Given the description of an element on the screen output the (x, y) to click on. 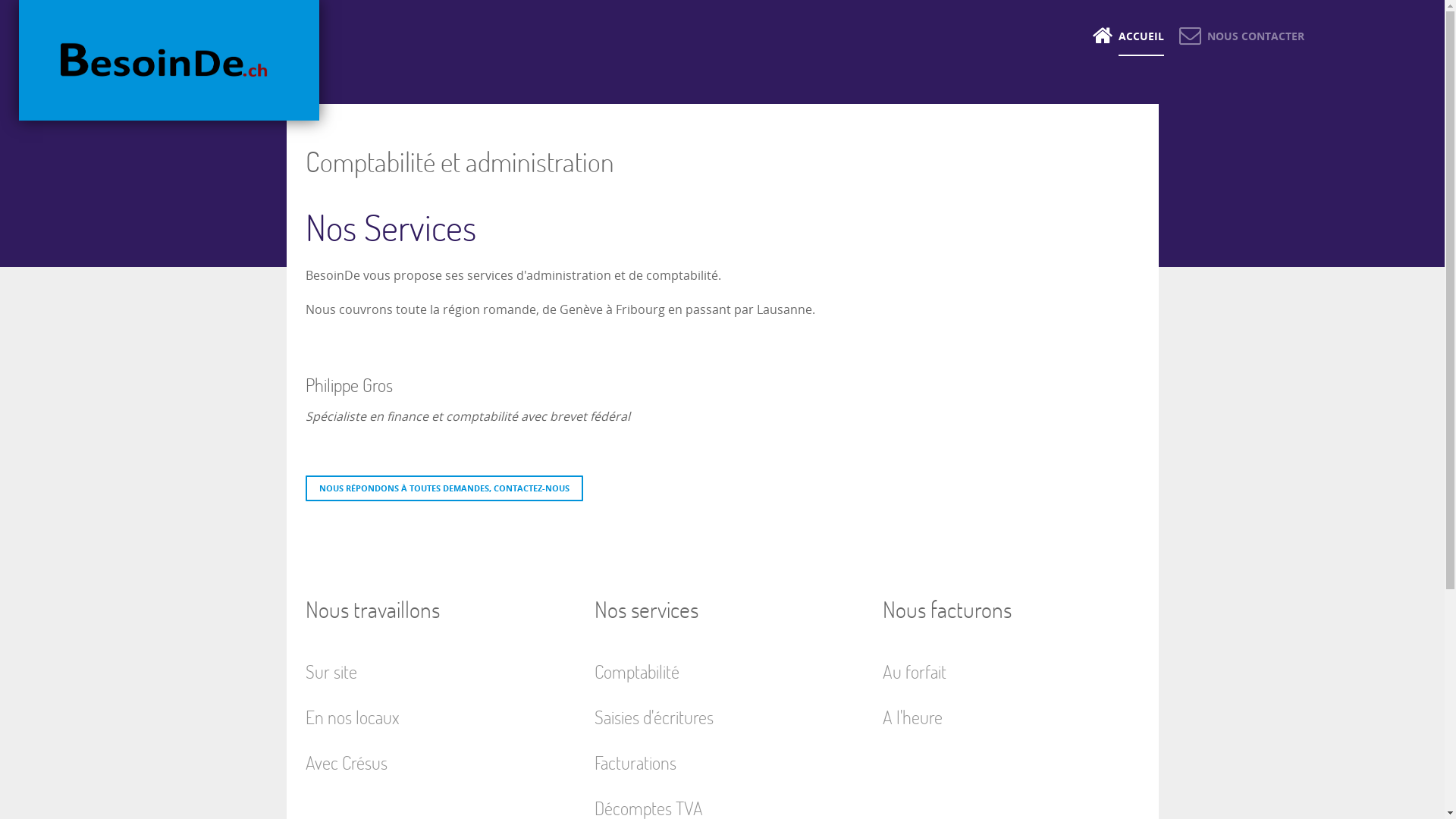
ACCUEIL Element type: text (1128, 36)
NOUS CONTACTER Element type: text (1241, 36)
Photon Element type: hover (168, 60)
